Given the description of an element on the screen output the (x, y) to click on. 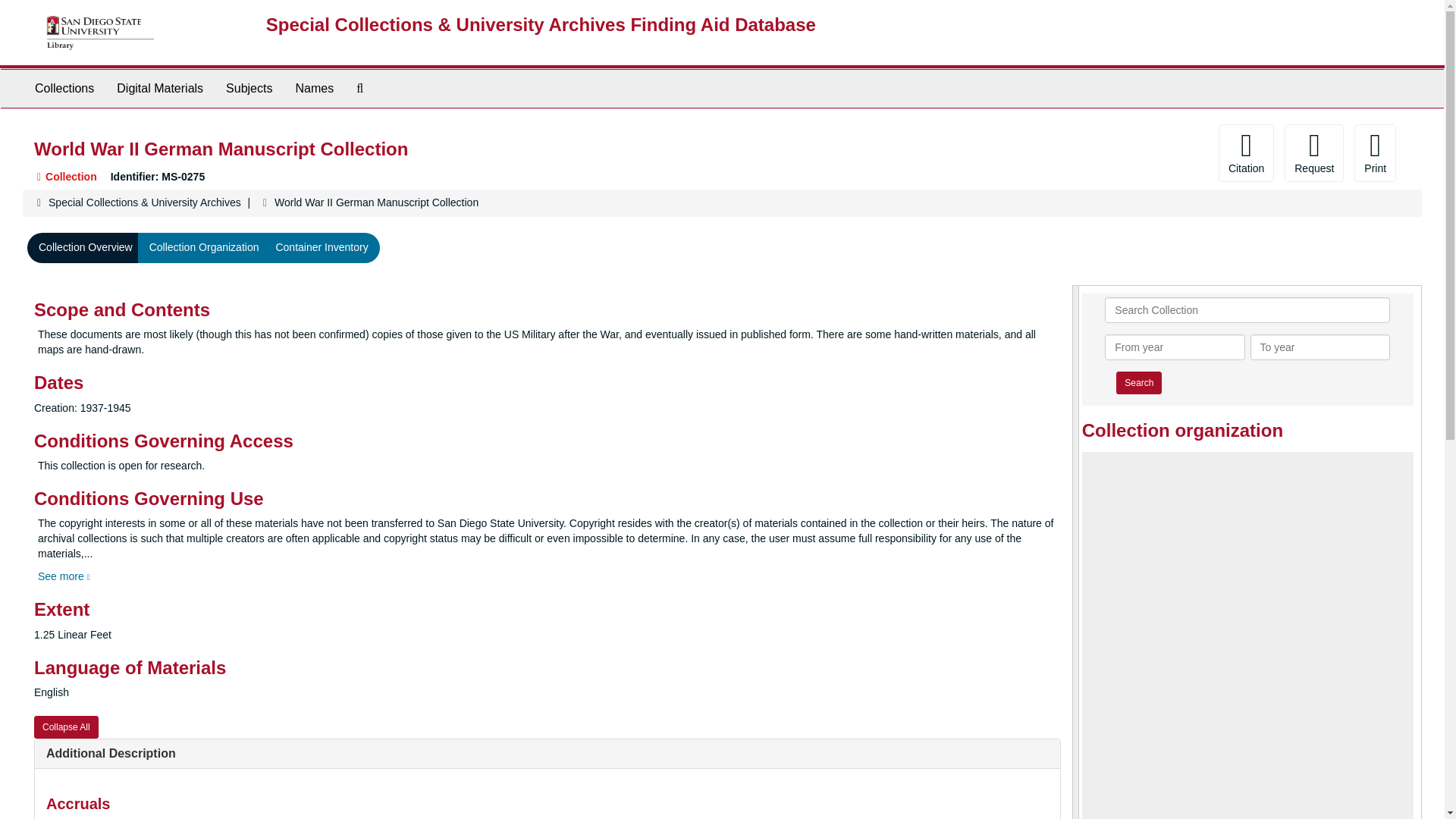
Collapse All (66, 726)
Request (1313, 152)
Names (314, 88)
Search (1138, 382)
Return to the SCUA Finding Aid Database homepage (540, 24)
Collection Overview (85, 247)
Collections (63, 88)
Container Inventory (320, 247)
Additional Description (111, 753)
Collection Organization (204, 247)
